Given the description of an element on the screen output the (x, y) to click on. 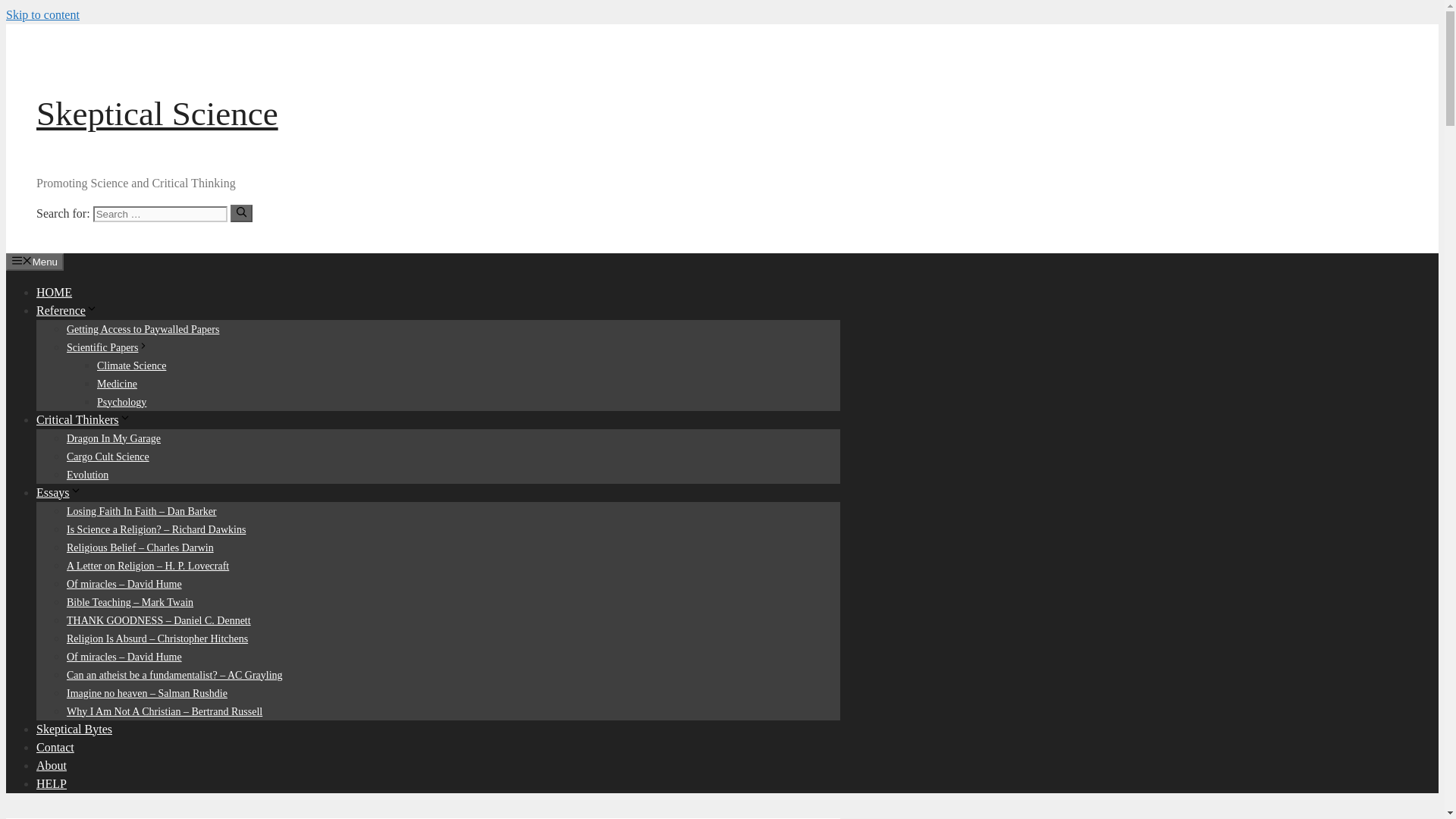
Contact (55, 746)
Dragon In My Garage (113, 437)
Climate Science (131, 365)
HELP (51, 782)
Skeptical Bytes (74, 727)
Getting Access to Paywalled Papers (142, 328)
Medicine (116, 383)
Skip to content (42, 14)
About (51, 764)
Essays (58, 491)
Psychology (122, 401)
Search for: (160, 213)
Scientific Papers (107, 346)
Skip to content (42, 14)
Critical Thinkers (83, 418)
